Given the description of an element on the screen output the (x, y) to click on. 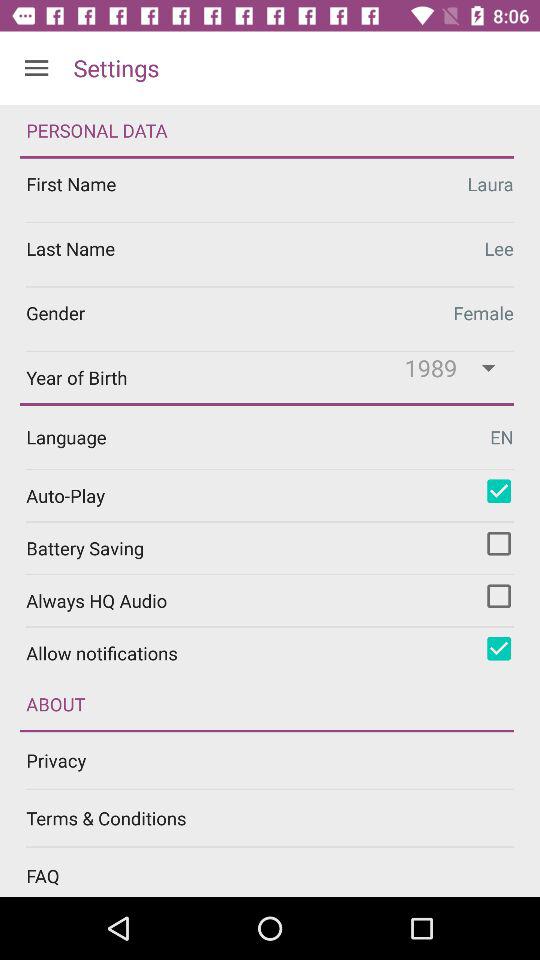
toggle notifications on/off (499, 648)
